Given the description of an element on the screen output the (x, y) to click on. 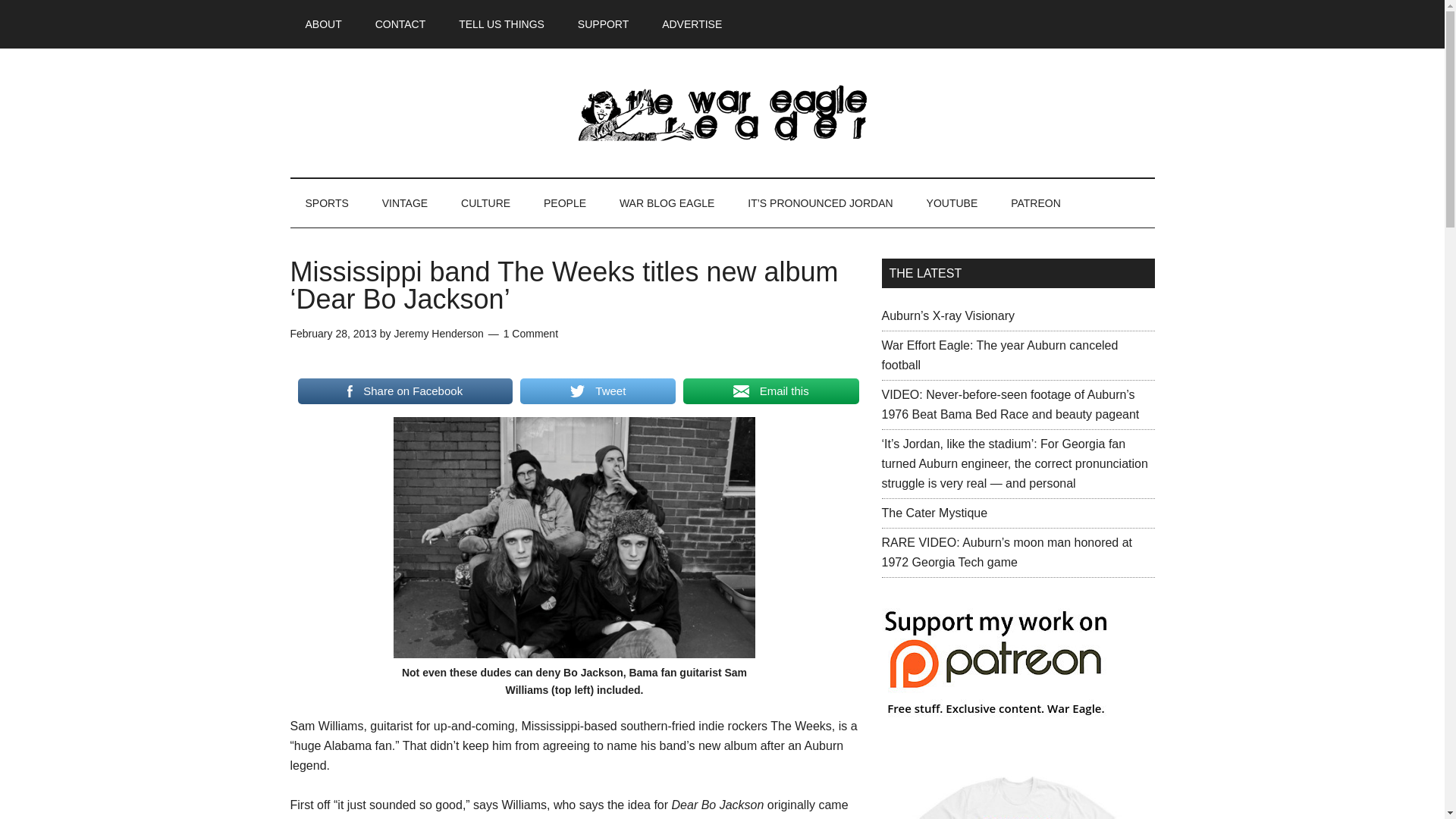
WAR BLOG EAGLE (667, 203)
PEOPLE (564, 203)
ADVERTISE (691, 24)
Email this (770, 390)
Tweet (597, 390)
music1-1 (574, 537)
SUPPORT (602, 24)
The War Eagle Reader (721, 112)
YOUTUBE (951, 203)
